Given the description of an element on the screen output the (x, y) to click on. 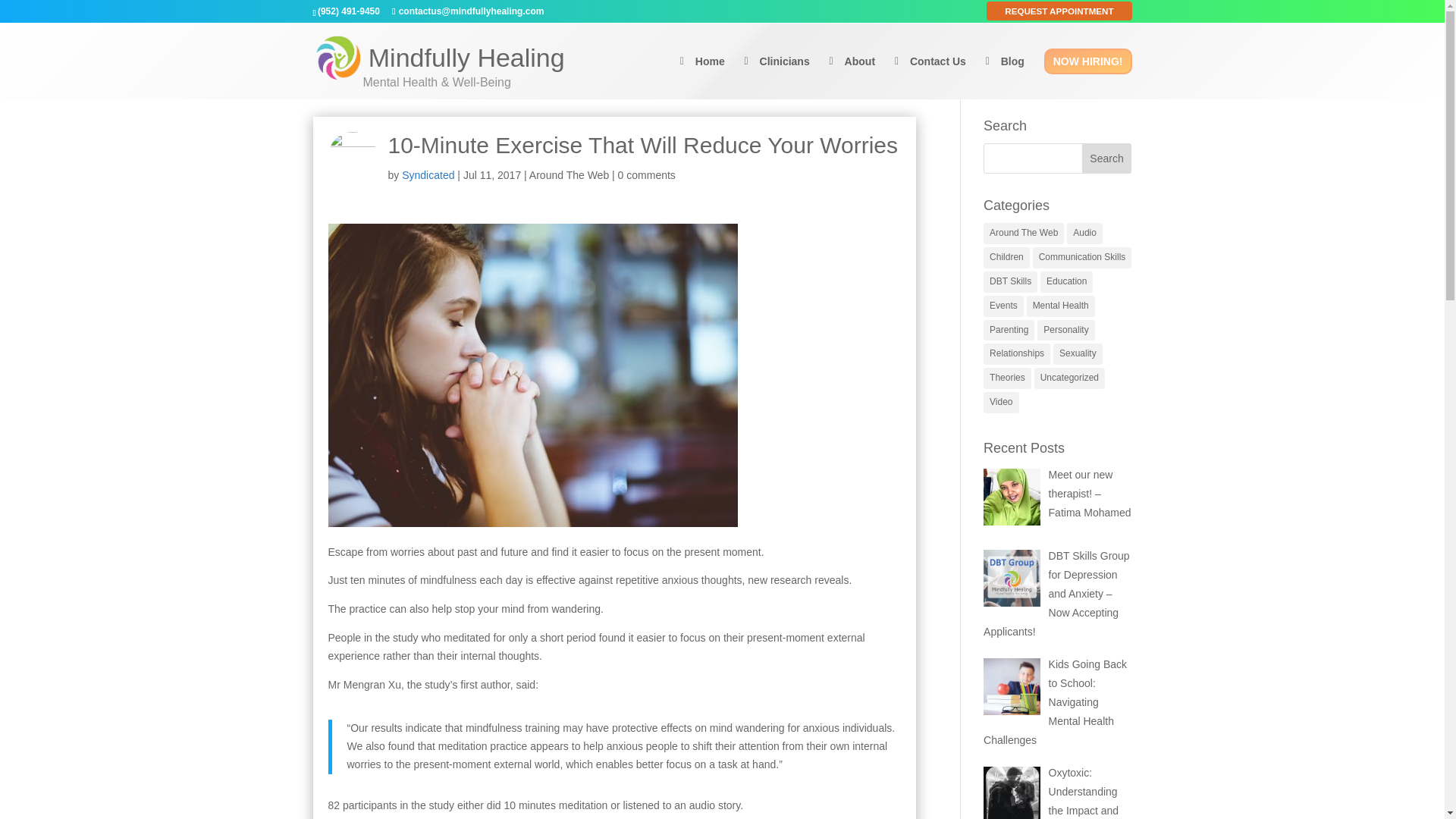
REQUEST APPOINTMENT (1059, 10)
About (852, 73)
Home (702, 73)
Search (1106, 158)
Clinicians (776, 73)
Posts by Syndicated (427, 174)
